Given the description of an element on the screen output the (x, y) to click on. 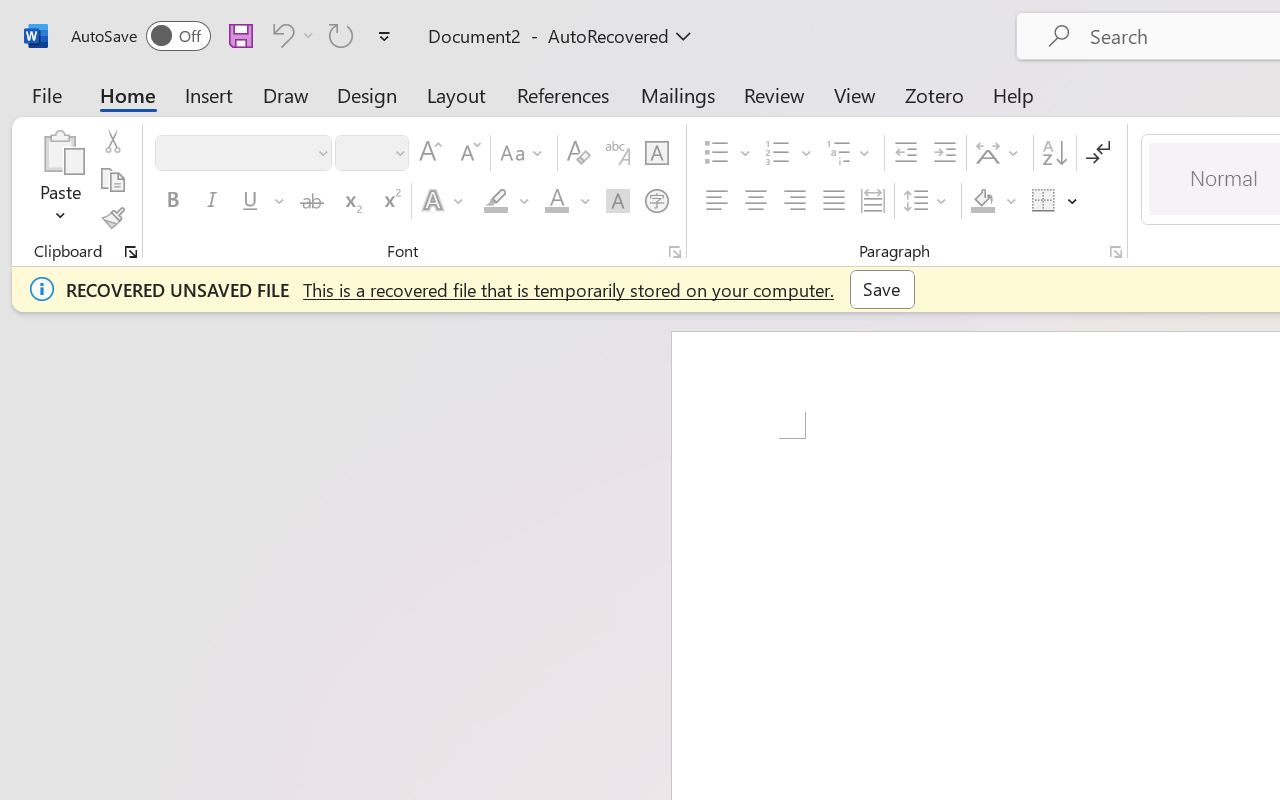
Format Painter (112, 218)
Can't Repeat (341, 35)
Bold (172, 201)
Line and Paragraph Spacing (927, 201)
Shrink Font (468, 153)
Office Clipboard... (131, 252)
Copy (112, 179)
Character Shading (618, 201)
Grow Font (430, 153)
Text Highlight Color (506, 201)
Decrease Indent (906, 153)
Character Border (656, 153)
